Given the description of an element on the screen output the (x, y) to click on. 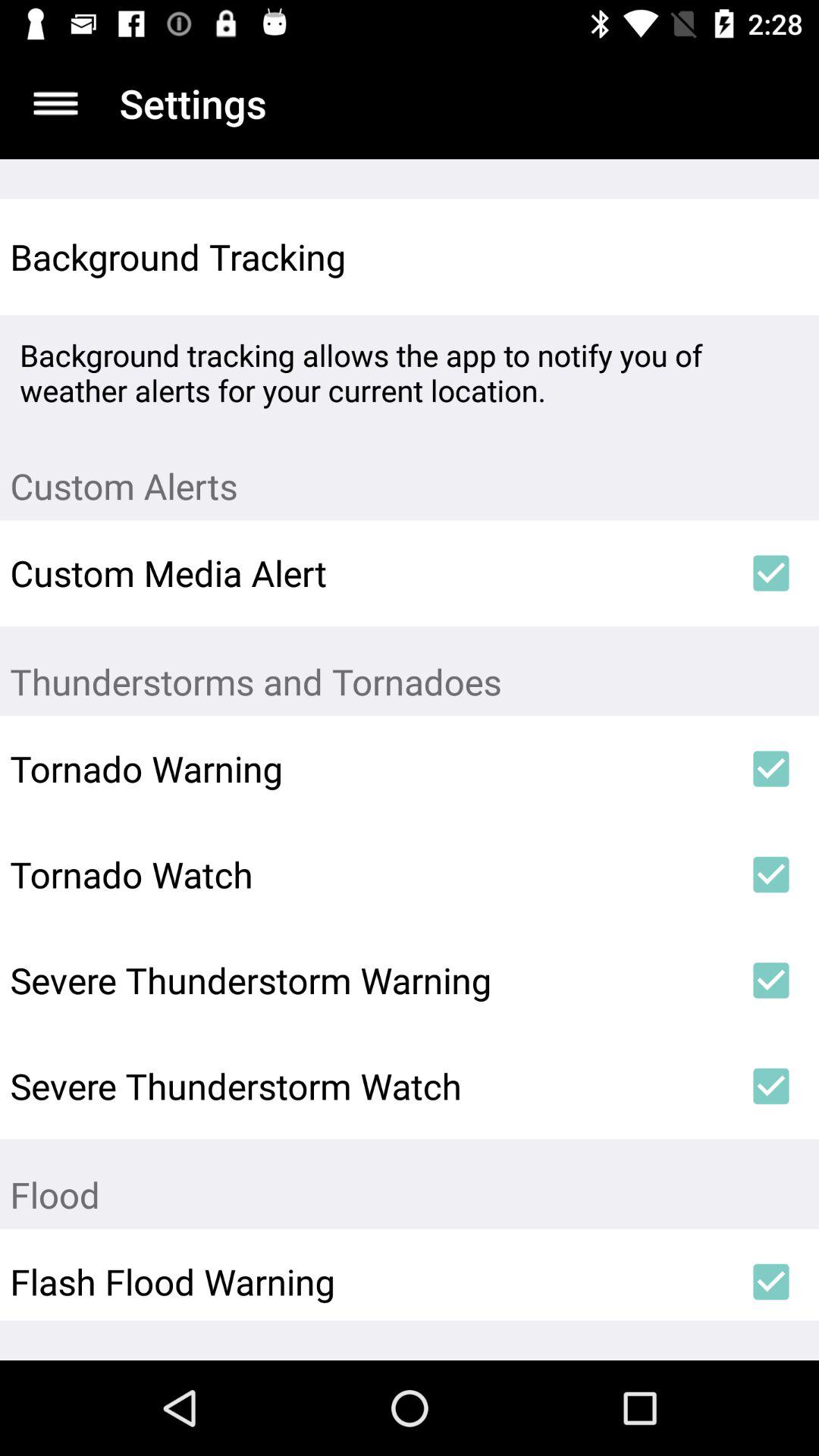
turn on icon to the right of tornado warning item (771, 768)
